Given the description of an element on the screen output the (x, y) to click on. 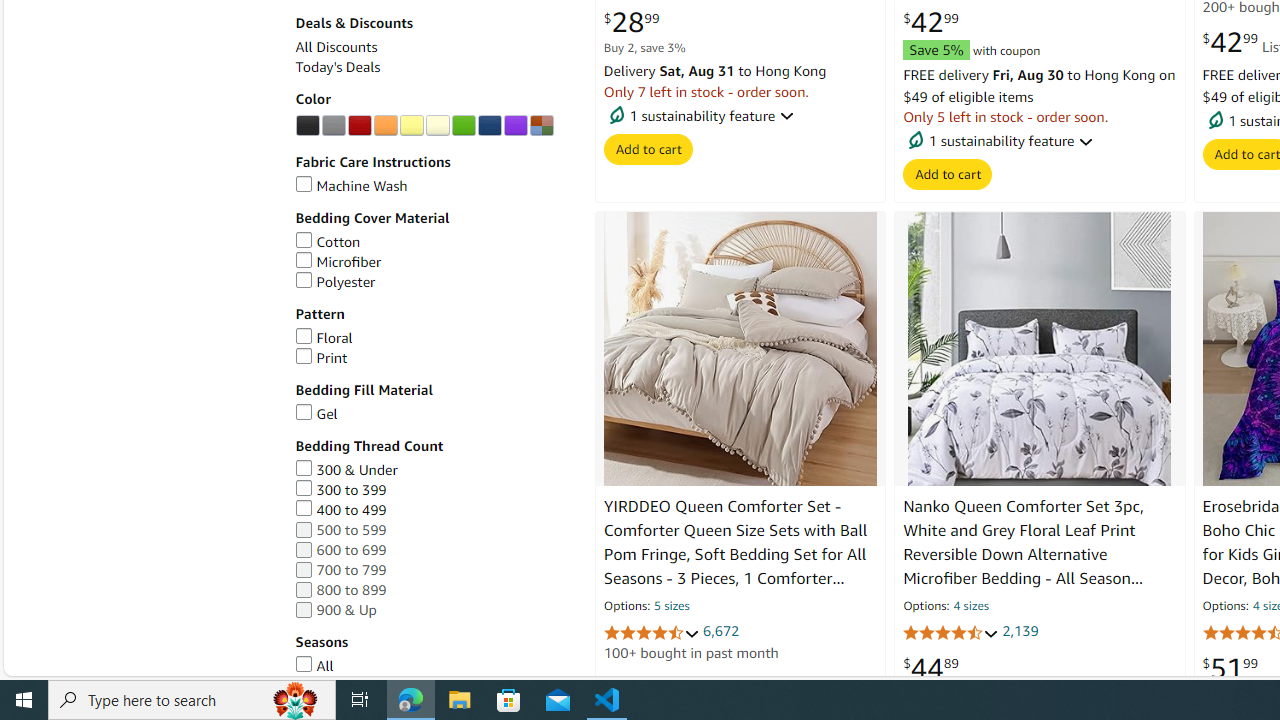
300 & Under (434, 470)
Cotton (327, 241)
Machine Wash (434, 186)
All Discounts (434, 47)
All Discounts (335, 47)
All (434, 666)
Purple (515, 125)
AutomationID: p_n_feature_twenty_browse-bin/3254099011 (333, 125)
Go back to filtering menu (84, 666)
Grey (333, 125)
Gel (434, 414)
All (314, 665)
4.6 out of 5 stars (651, 632)
6,672 (720, 632)
